Given the description of an element on the screen output the (x, y) to click on. 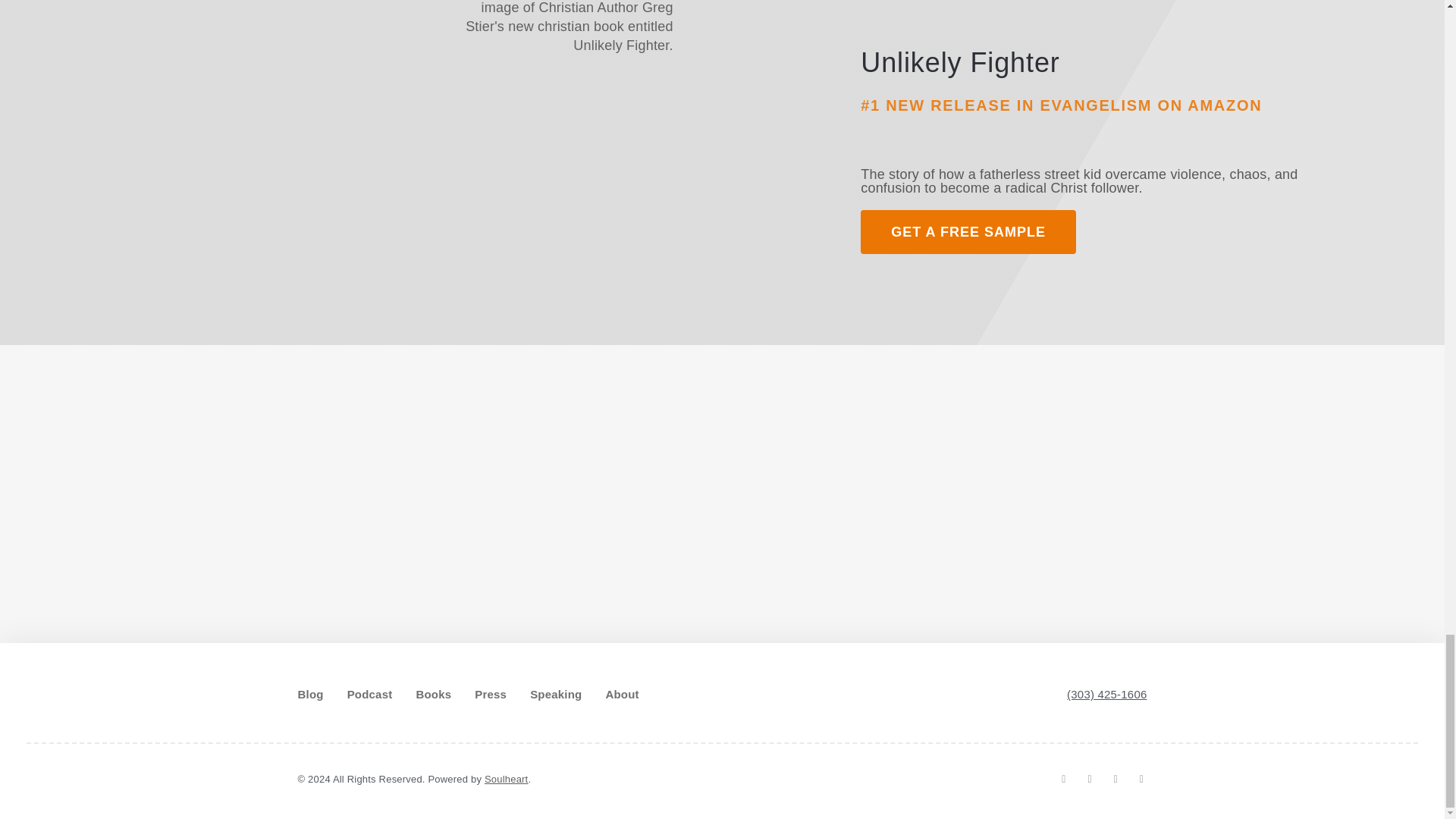
GET A FREE SAMPLE (967, 231)
Press (490, 694)
Podcast (370, 694)
About (622, 694)
Books (432, 694)
Speaking (554, 694)
